Given the description of an element on the screen output the (x, y) to click on. 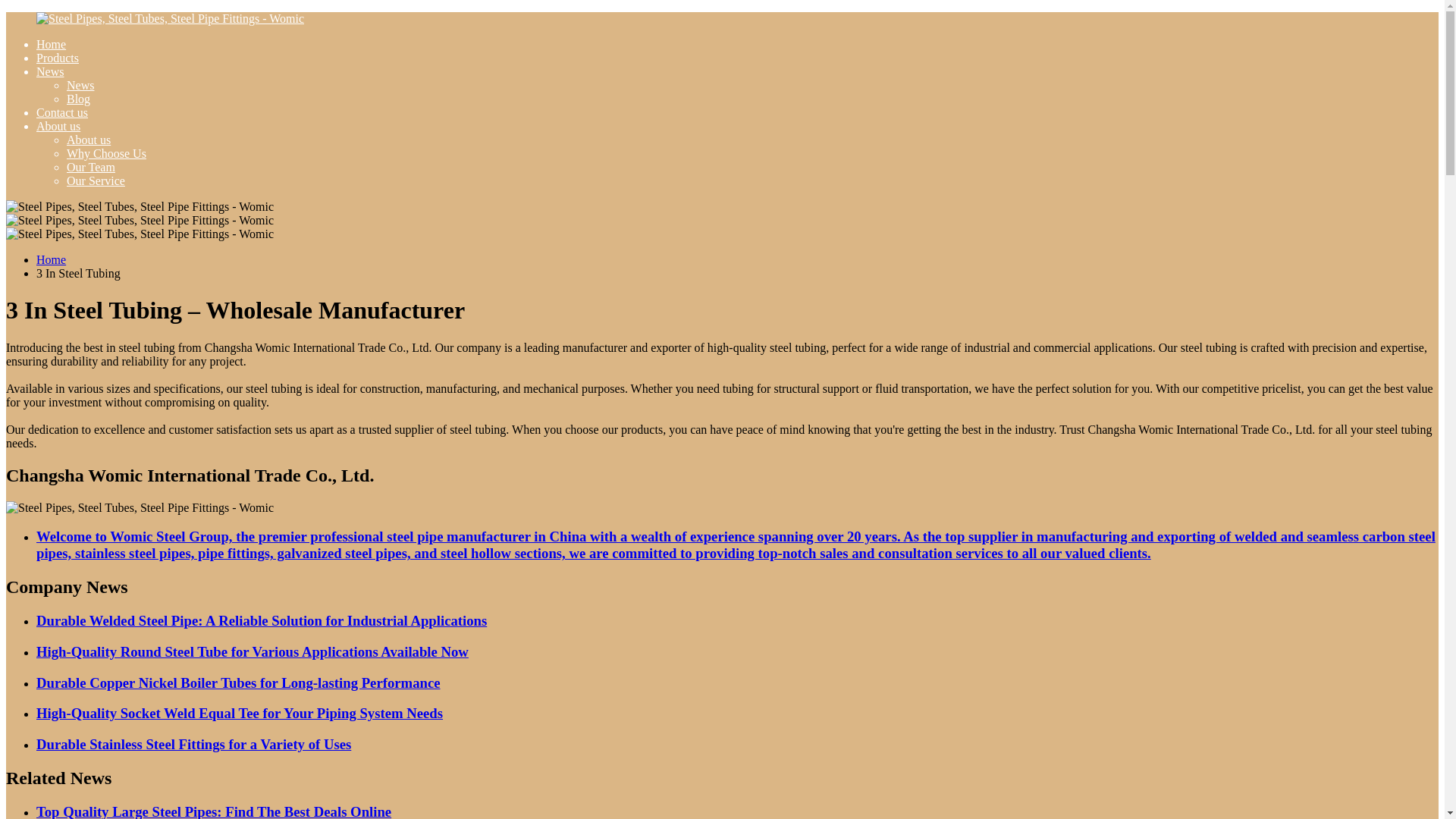
News (50, 71)
Home (50, 43)
About us (88, 139)
Contact us (61, 112)
Our Team (90, 166)
News (80, 84)
Blog (78, 98)
About us (58, 125)
Home (50, 259)
Why Choose Us (106, 153)
